Given the description of an element on the screen output the (x, y) to click on. 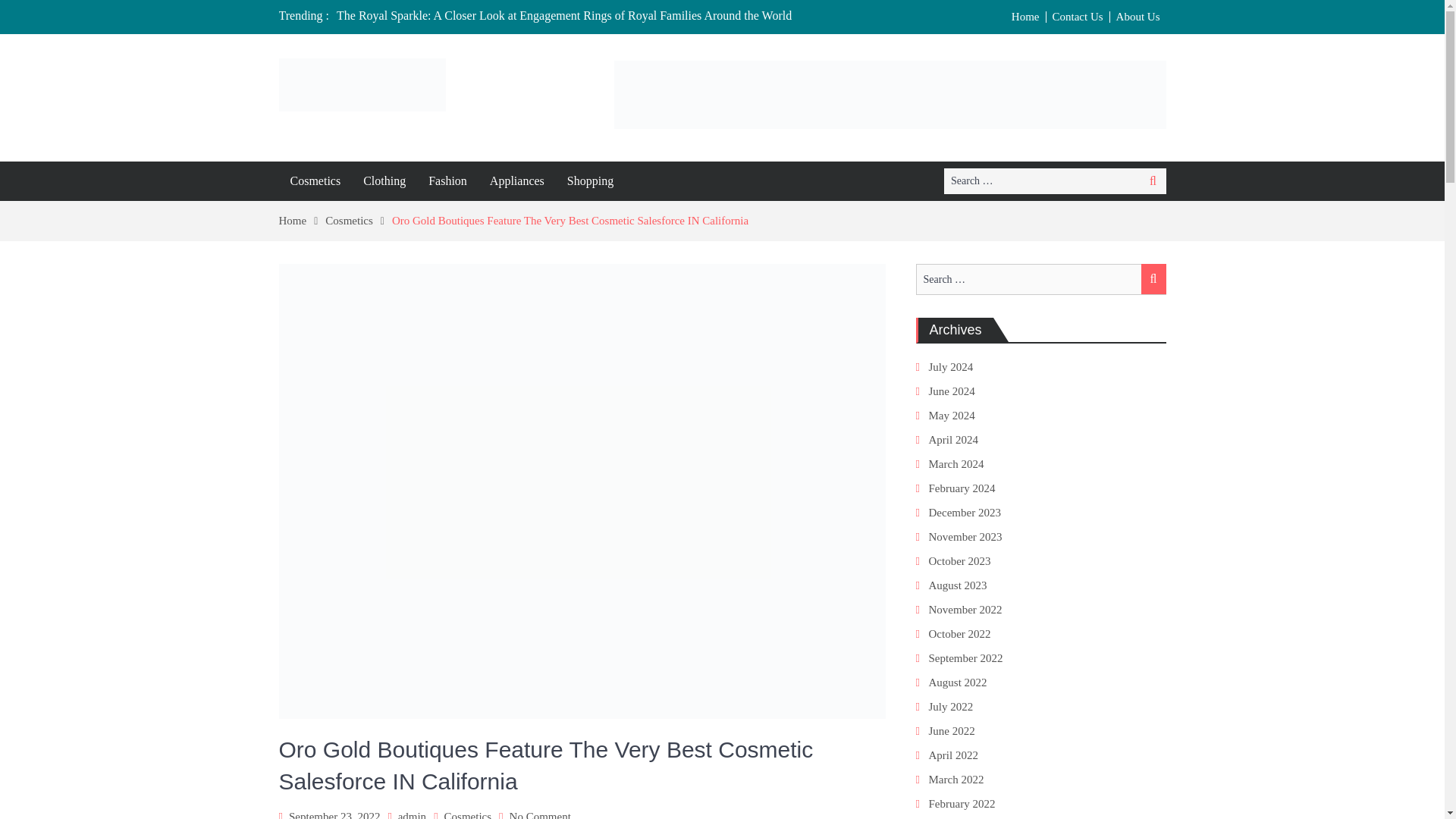
Cosmetics (357, 219)
July 2024 (950, 367)
Clothing (384, 179)
Home (302, 219)
September 23, 2022 (334, 814)
Contact Us (1077, 16)
admin (411, 814)
Home (1026, 16)
Cosmetics (468, 814)
Fashion (447, 179)
About Us (1137, 16)
Search (1153, 181)
Appliances (517, 179)
